Given the description of an element on the screen output the (x, y) to click on. 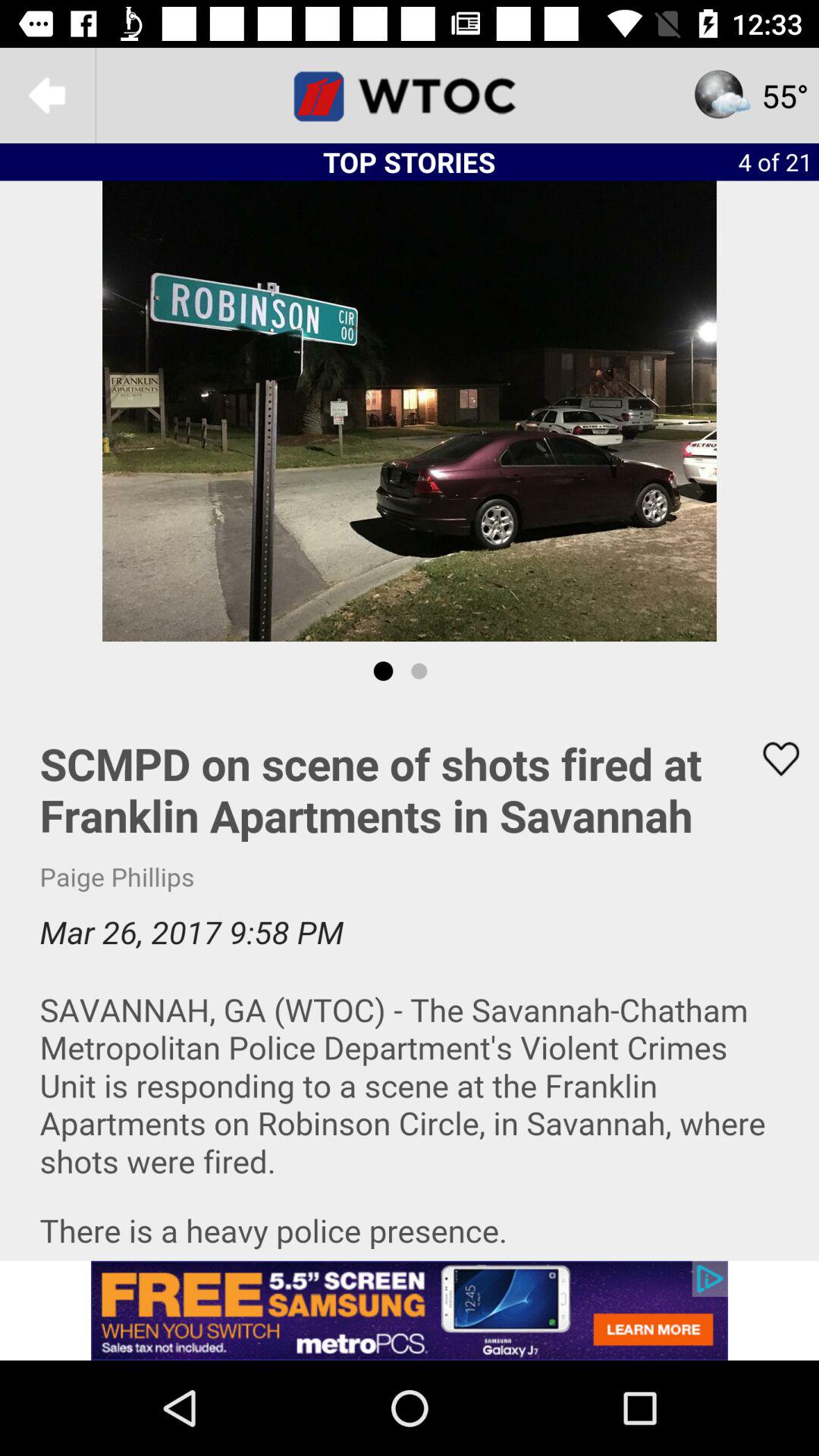
add to favorites (771, 758)
